Given the description of an element on the screen output the (x, y) to click on. 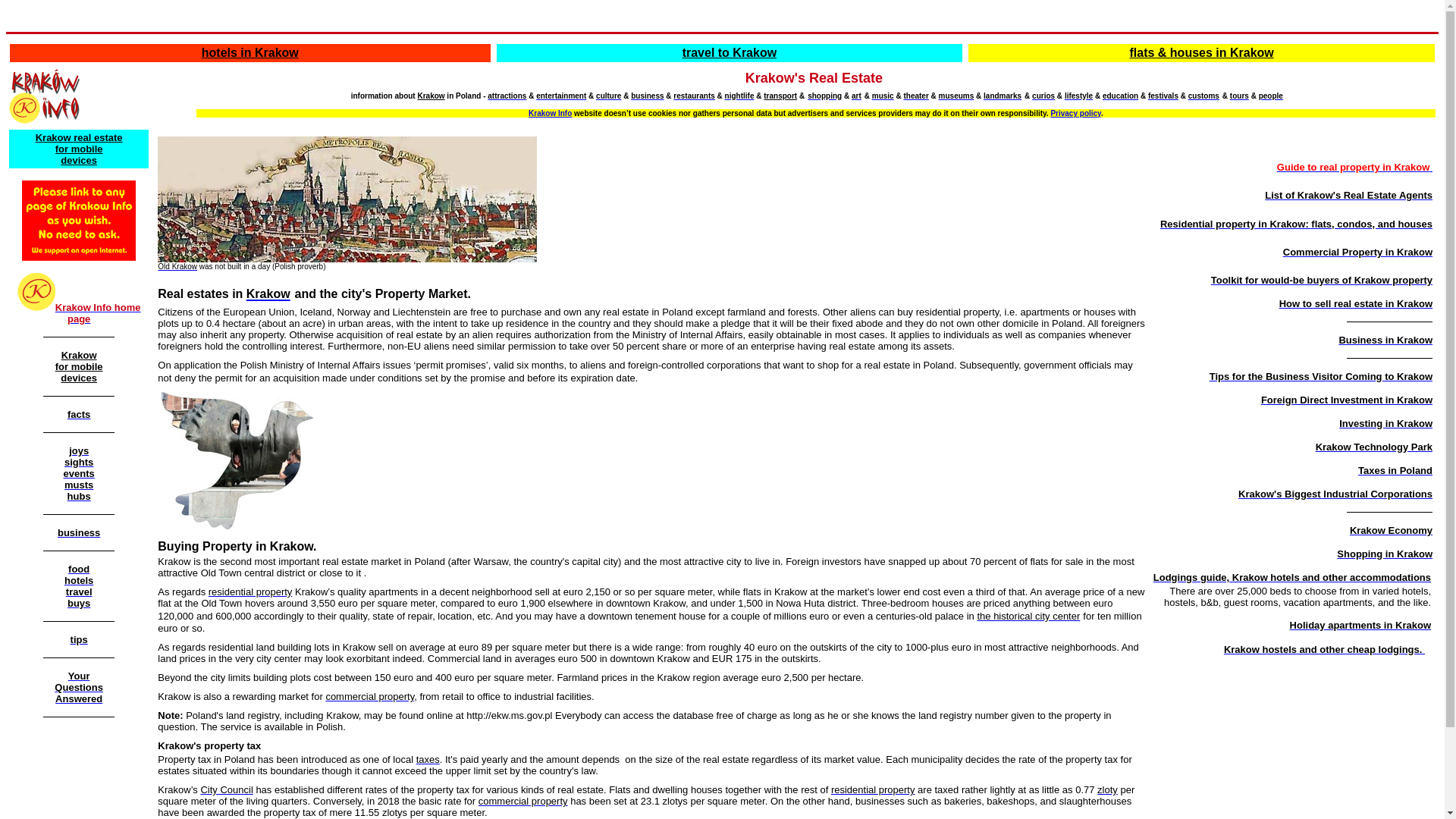
hubs (78, 495)
customs (1204, 93)
travel to Krakow (729, 51)
curios (1043, 93)
shopping (824, 93)
events (79, 472)
education (1120, 93)
hotels (78, 579)
Bronze head on the central square of the Old Town in Krakow (237, 460)
hotels in Krakow (250, 51)
